Given the description of an element on the screen output the (x, y) to click on. 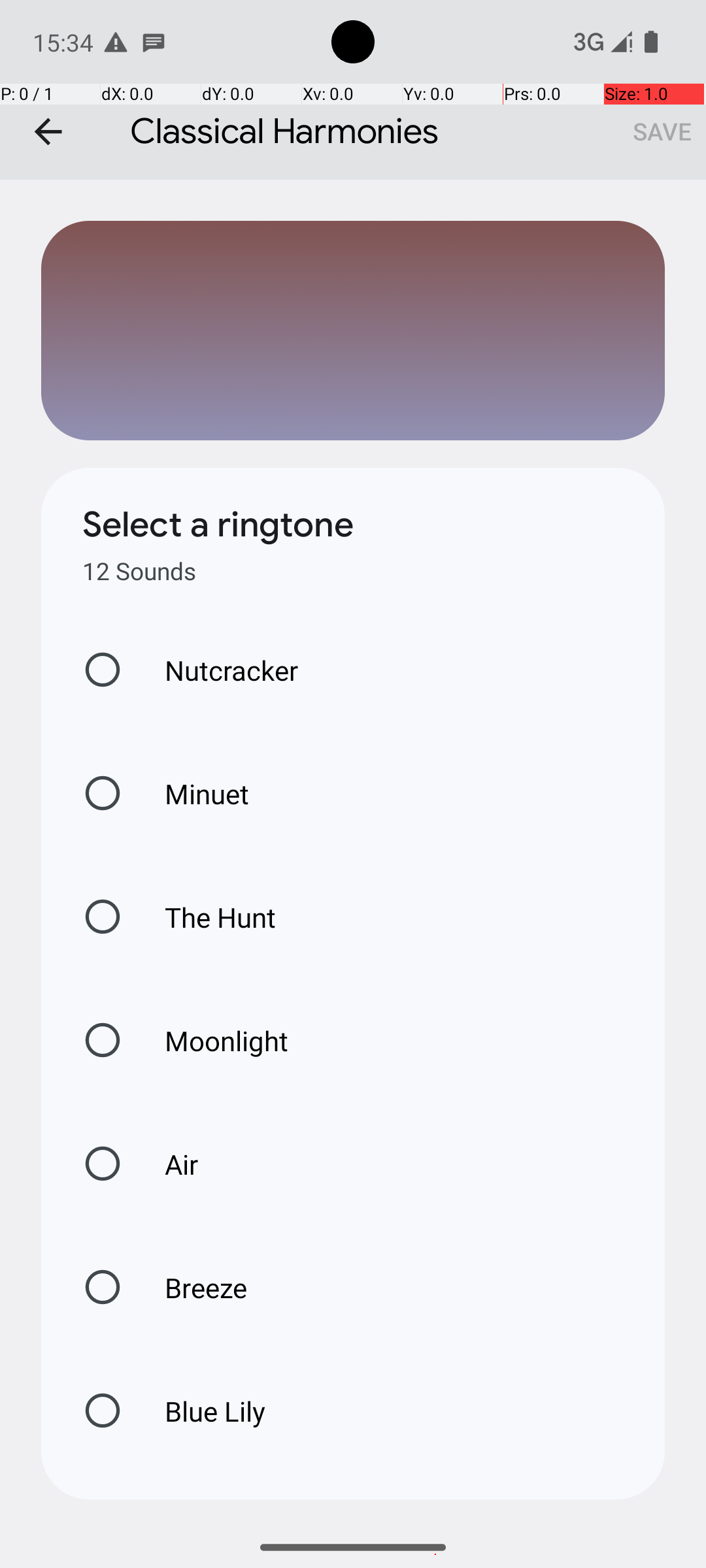
Classical Harmonies Element type: android.widget.FrameLayout (353, 89)
Select a ringtone Element type: android.widget.TextView (217, 524)
12 Sounds Element type: android.widget.TextView (139, 570)
Nutcracker Element type: android.widget.TextView (217, 669)
Minuet Element type: android.widget.TextView (193, 793)
The Hunt Element type: android.widget.TextView (206, 916)
Moonlight Element type: android.widget.TextView (212, 1040)
Air Element type: android.widget.TextView (167, 1163)
Breeze Element type: android.widget.TextView (192, 1287)
Blue Lily Element type: android.widget.TextView (201, 1410)
